Given the description of an element on the screen output the (x, y) to click on. 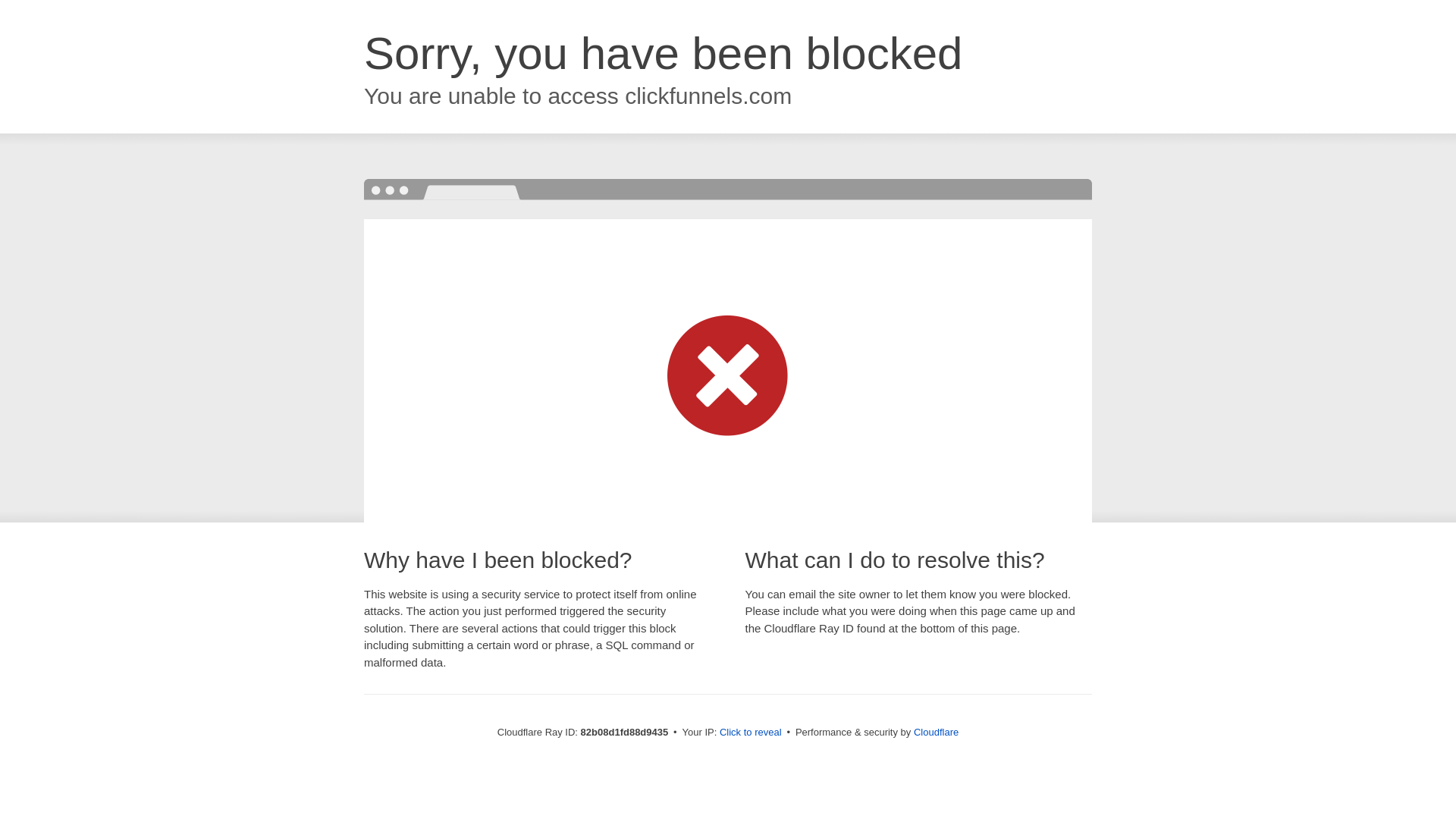
Click to reveal Element type: text (750, 732)
Cloudflare Element type: text (935, 731)
